Given the description of an element on the screen output the (x, y) to click on. 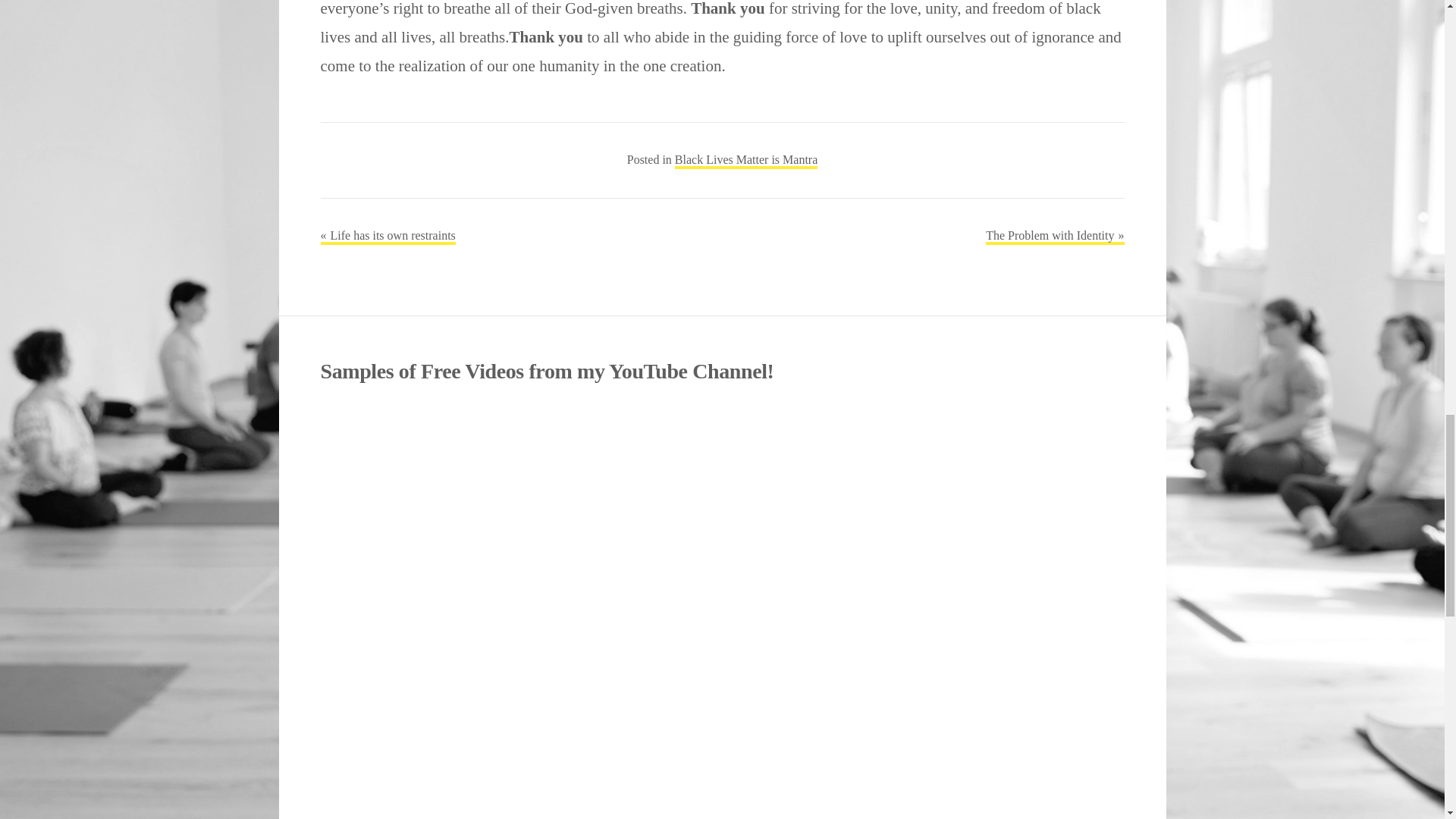
Life has its own restraints (387, 236)
The Problem with Identity (1054, 236)
Black Lives Matter is Mantra (745, 160)
